Given the description of an element on the screen output the (x, y) to click on. 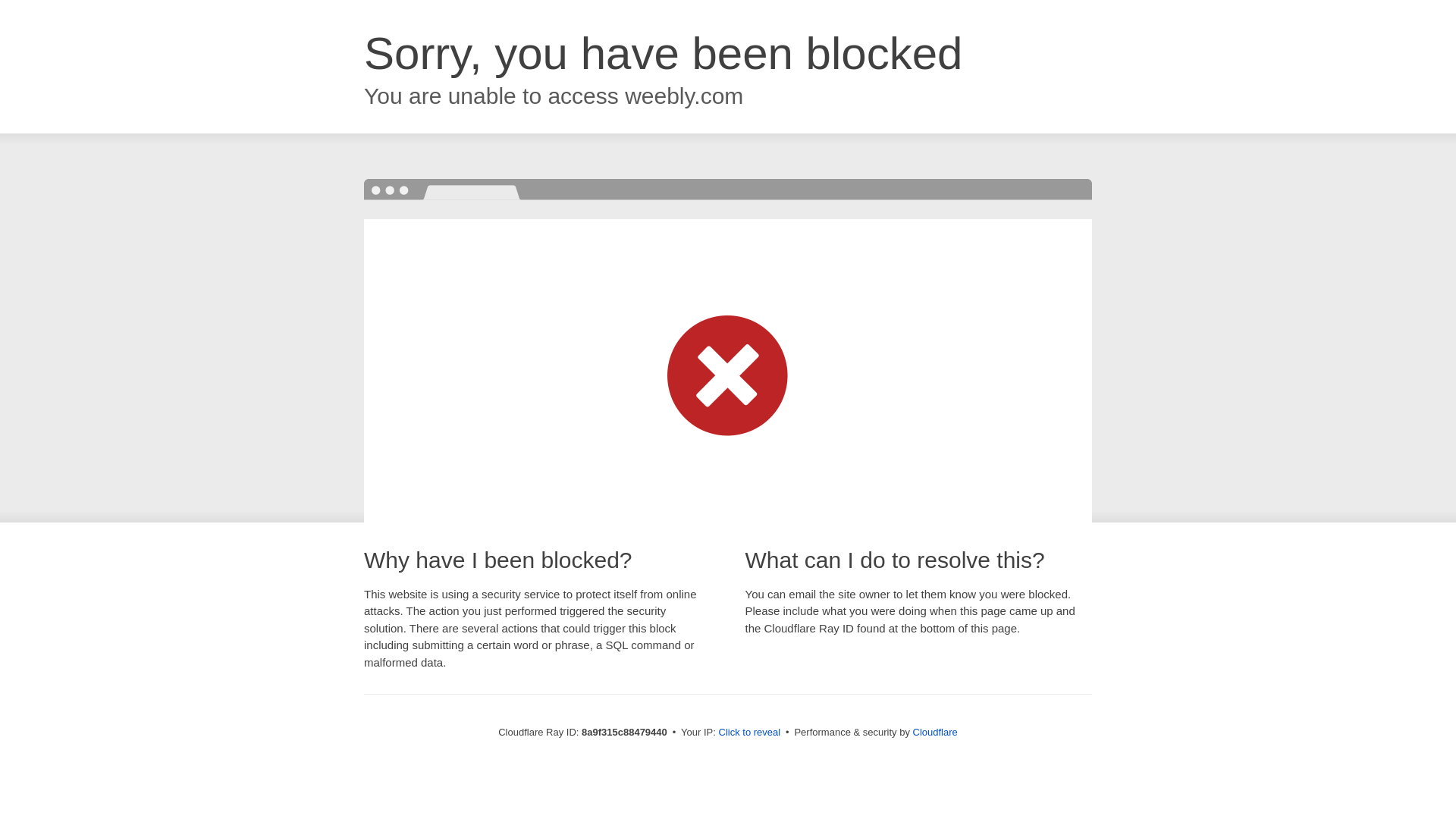
Click to reveal (749, 732)
Cloudflare (935, 731)
